Given the description of an element on the screen output the (x, y) to click on. 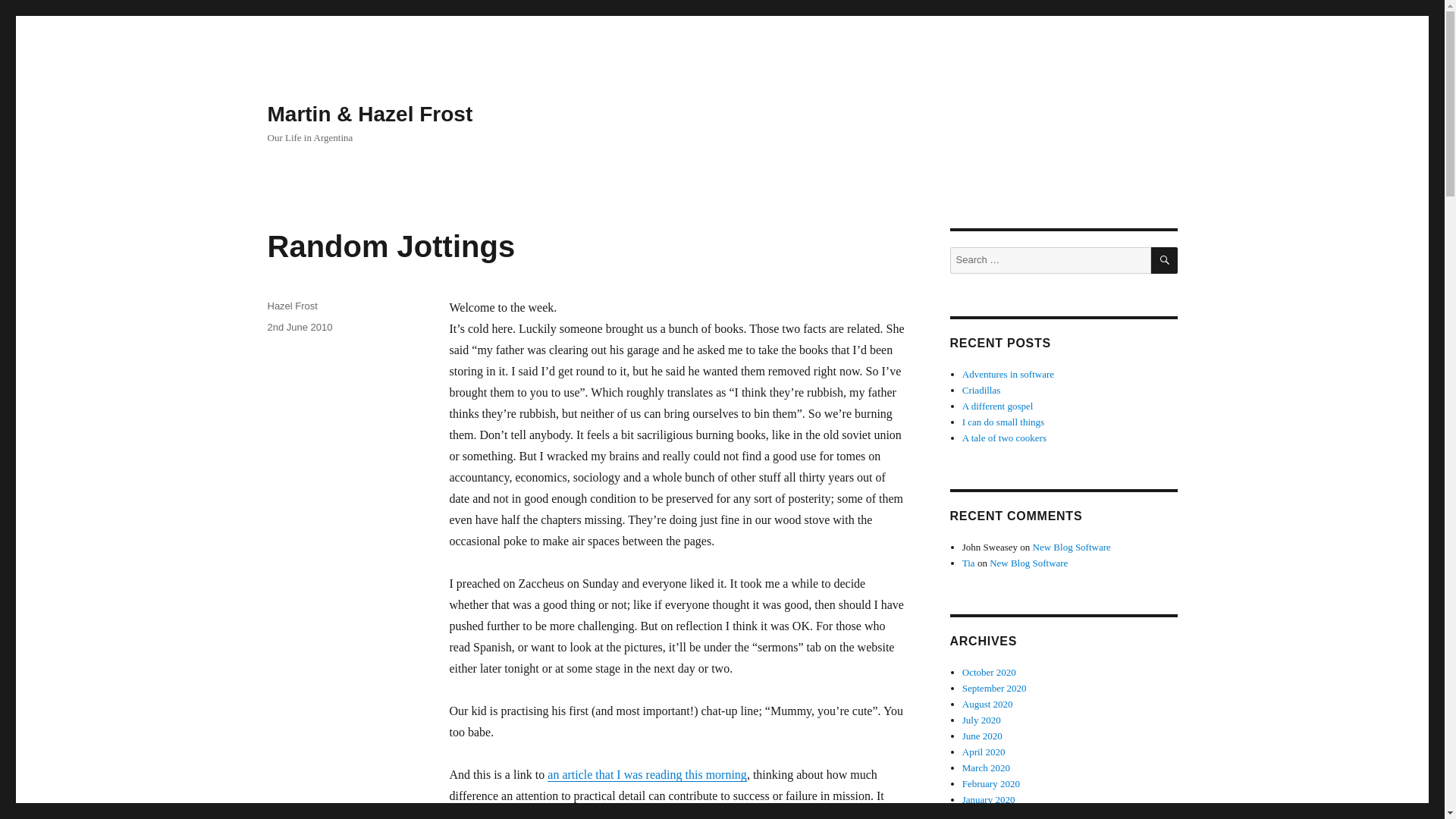
Criadillas (981, 389)
New Blog Software (1071, 546)
August 2020 (987, 704)
February 2020 (991, 783)
Adventures in software (1008, 374)
July 2020 (981, 719)
2nd June 2010 (298, 326)
January 2020 (988, 799)
A different gospel (997, 405)
New Blog Software (1028, 562)
